Given the description of an element on the screen output the (x, y) to click on. 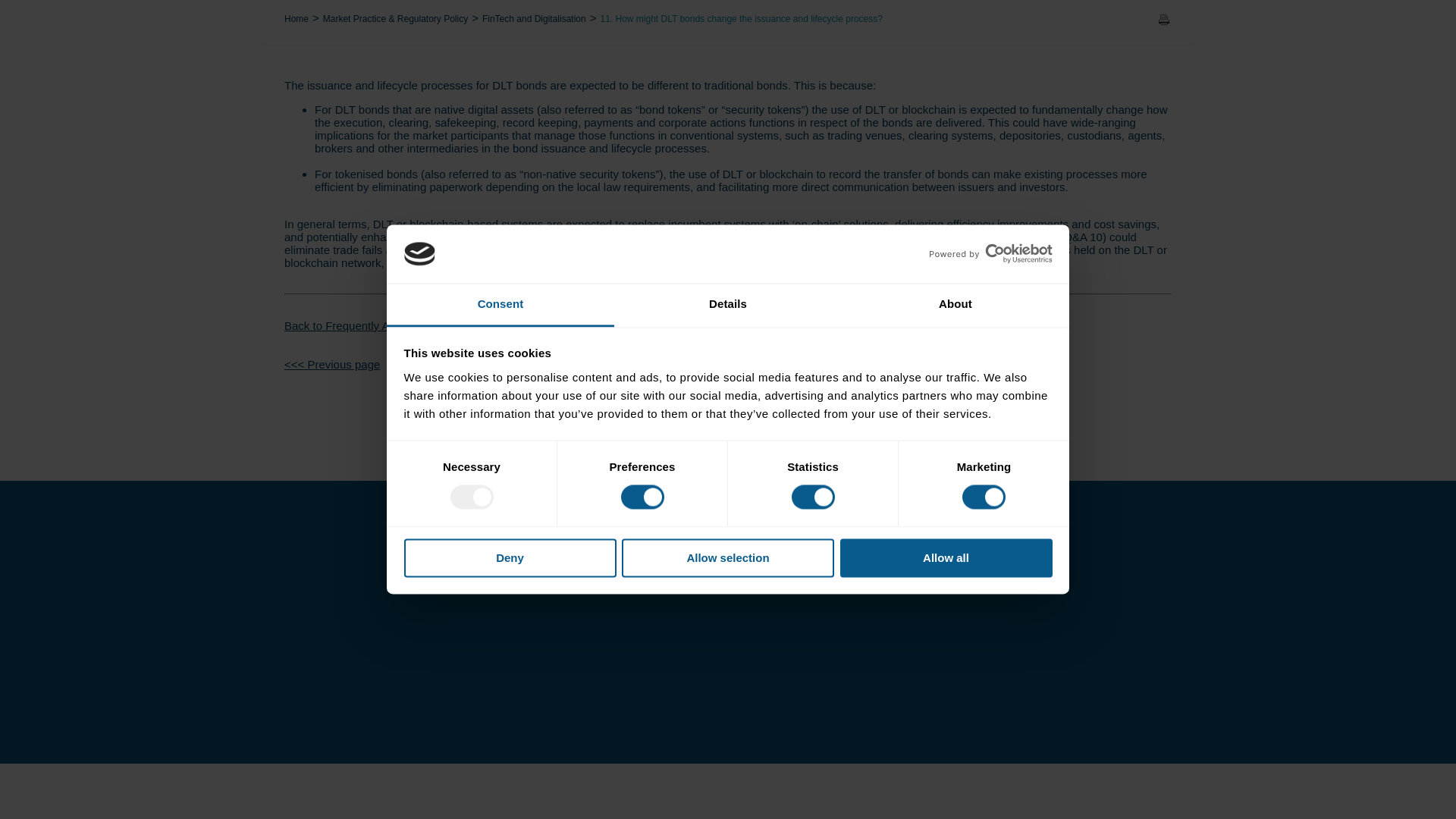
Consent (500, 13)
About (954, 13)
Details (727, 13)
